Given the description of an element on the screen output the (x, y) to click on. 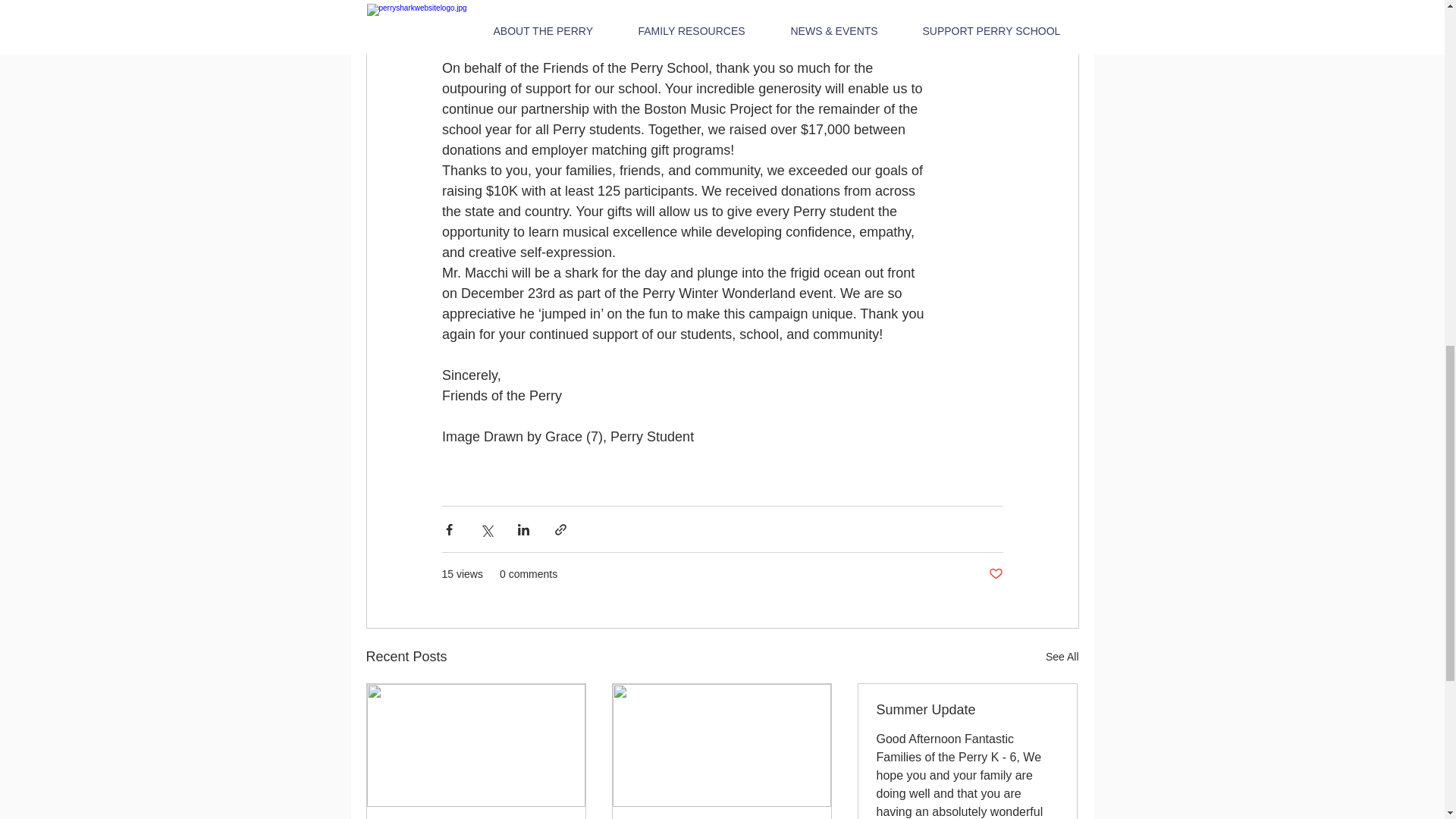
Summer Update (967, 709)
Post not marked as liked (995, 574)
See All (1061, 657)
